Given the description of an element on the screen output the (x, y) to click on. 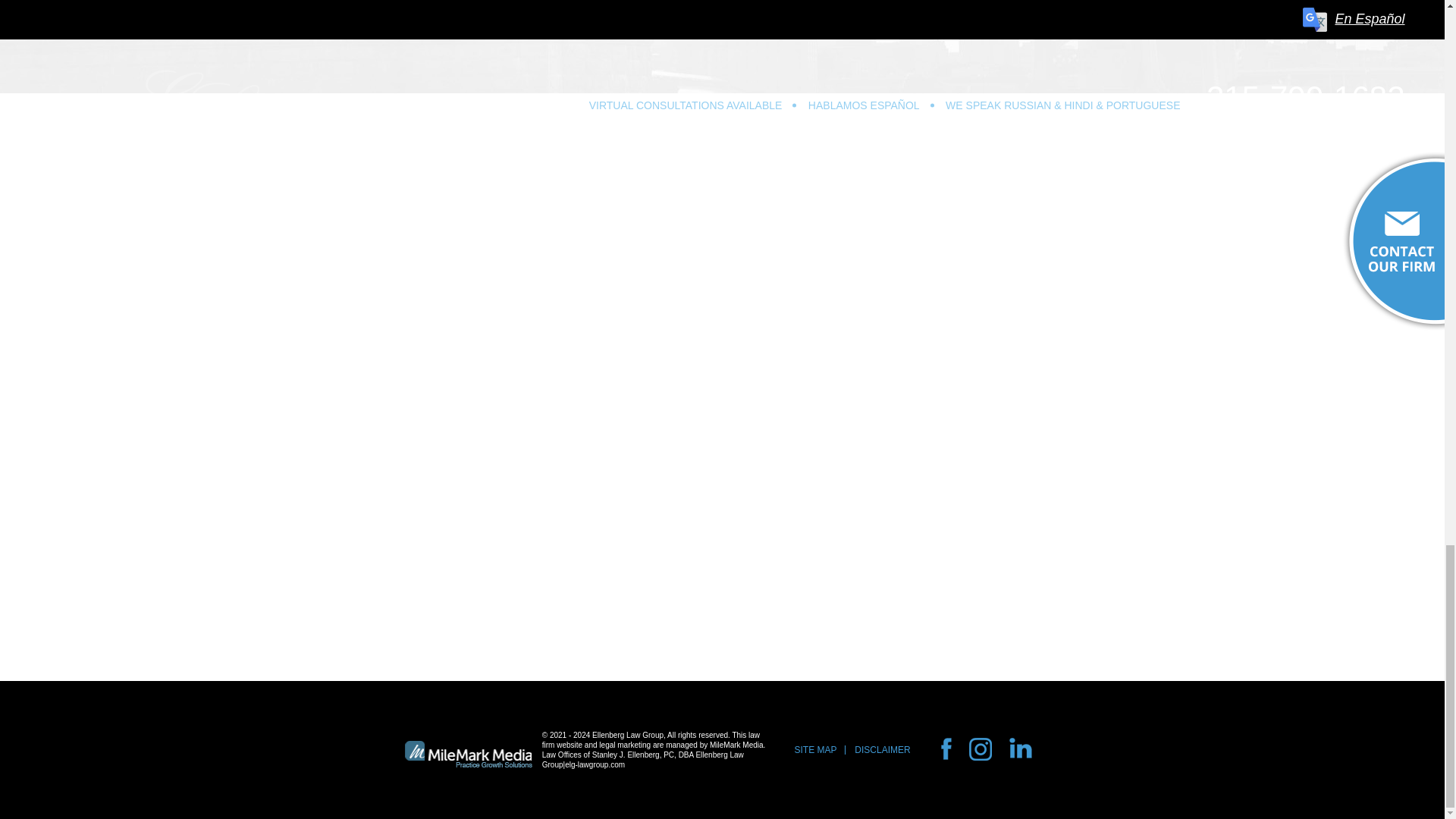
LinkedIn (1000, 761)
Facebook (971, 761)
Instagram (986, 761)
MileMark Media (468, 754)
